Given the description of an element on the screen output the (x, y) to click on. 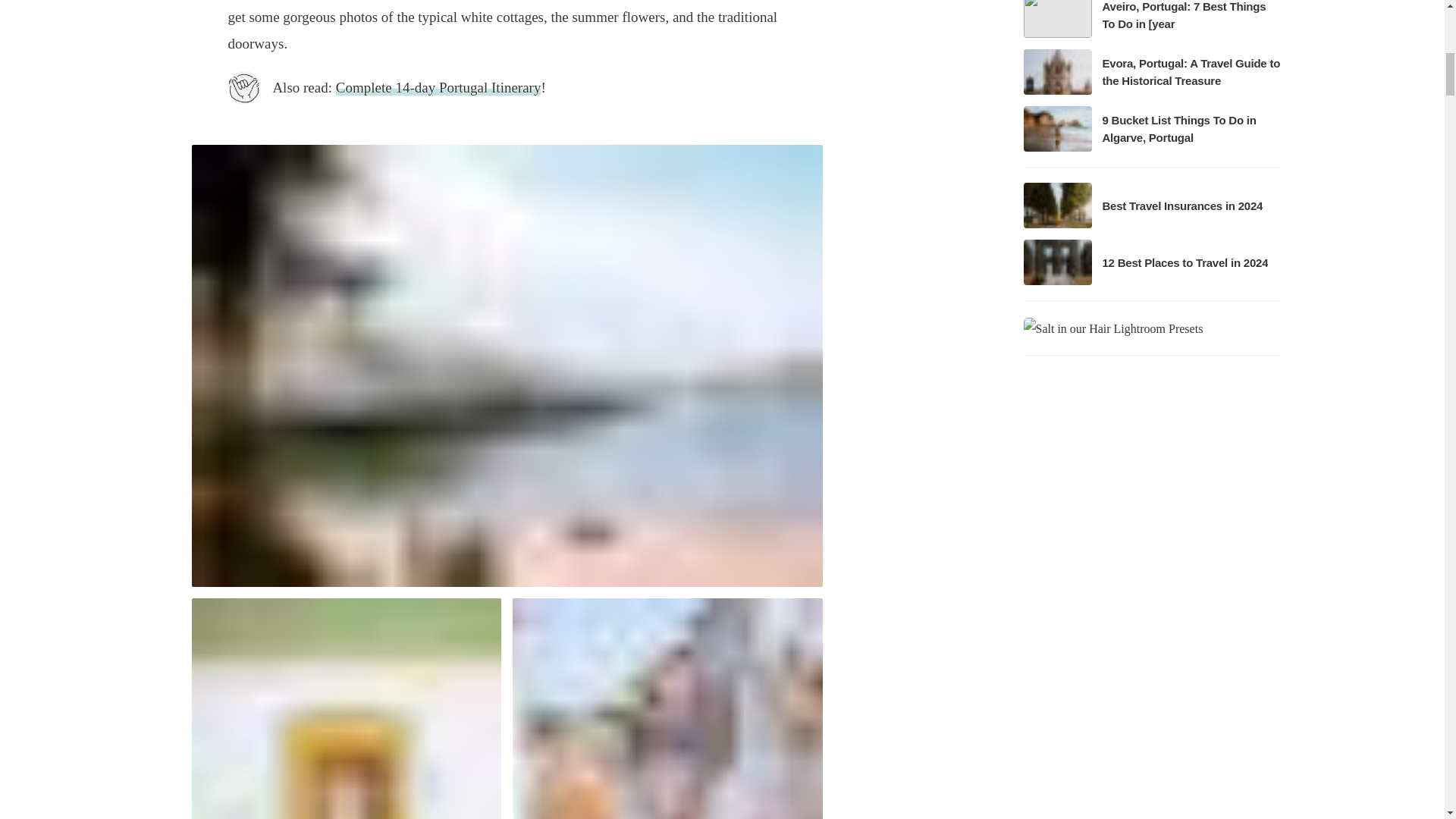
Evora, Portugal: A Travel Guide to the Historical Treasure (1151, 71)
Best Travel Insurances in 2024 (1151, 205)
12 Best Places to Travel in 2024 (1151, 262)
9 Bucket List Things To Do in Algarve, Portugal (1151, 128)
Salt in our Hair Presets (1113, 327)
Complete 14-day Portugal Itinerary (438, 87)
